Given the description of an element on the screen output the (x, y) to click on. 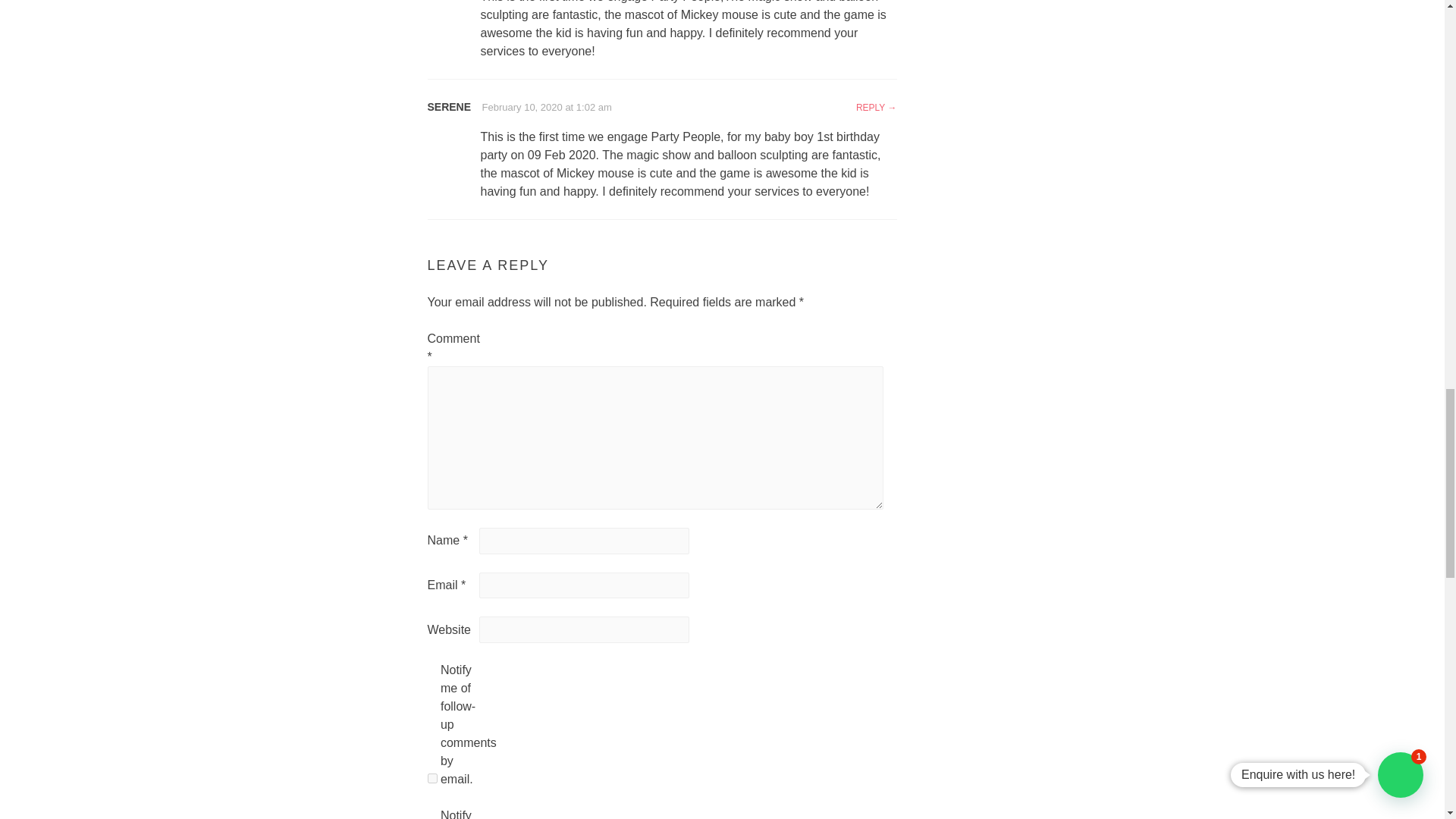
subscribe (433, 777)
